Given the description of an element on the screen output the (x, y) to click on. 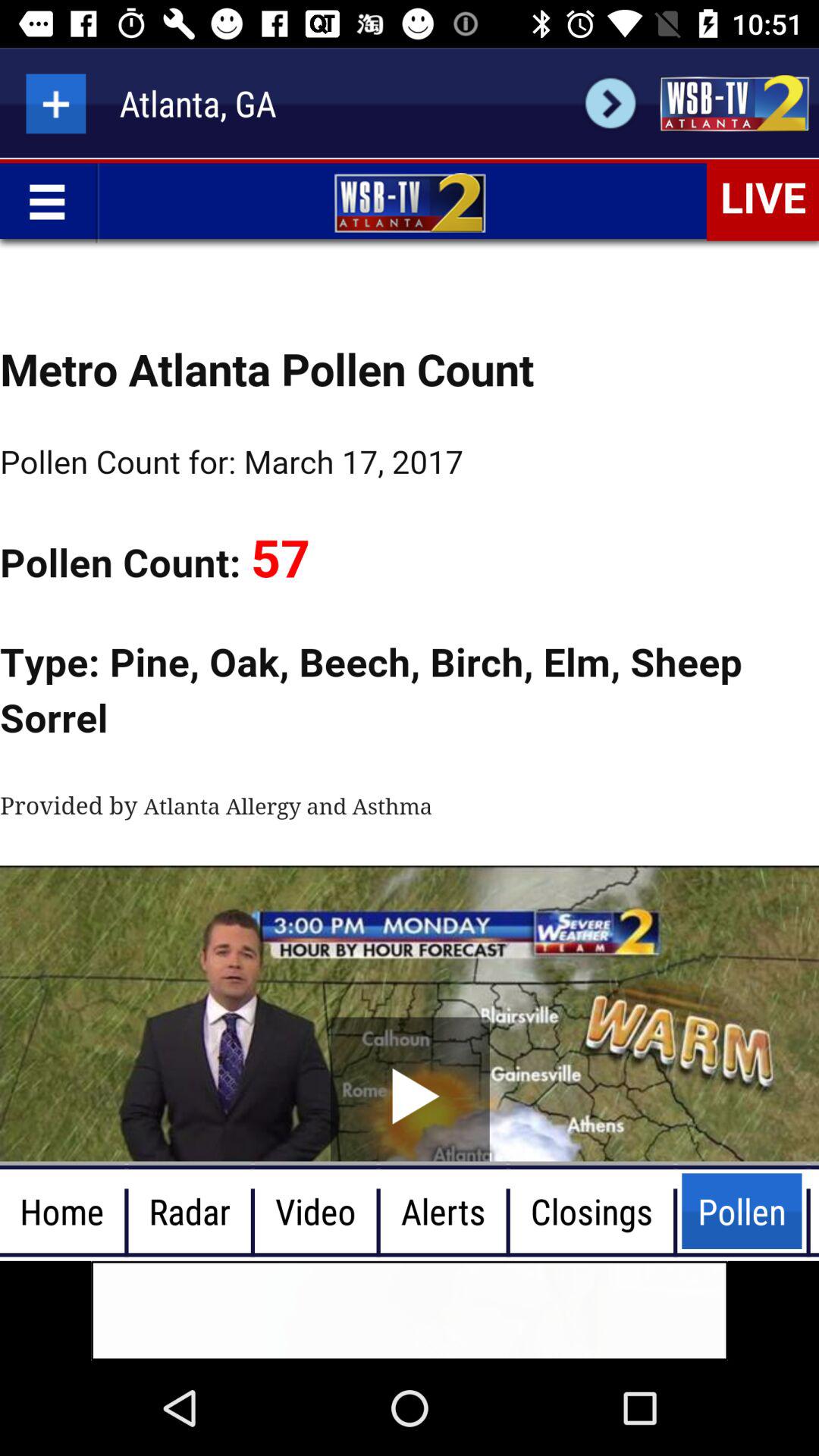
go to homepage (734, 103)
